Given the description of an element on the screen output the (x, y) to click on. 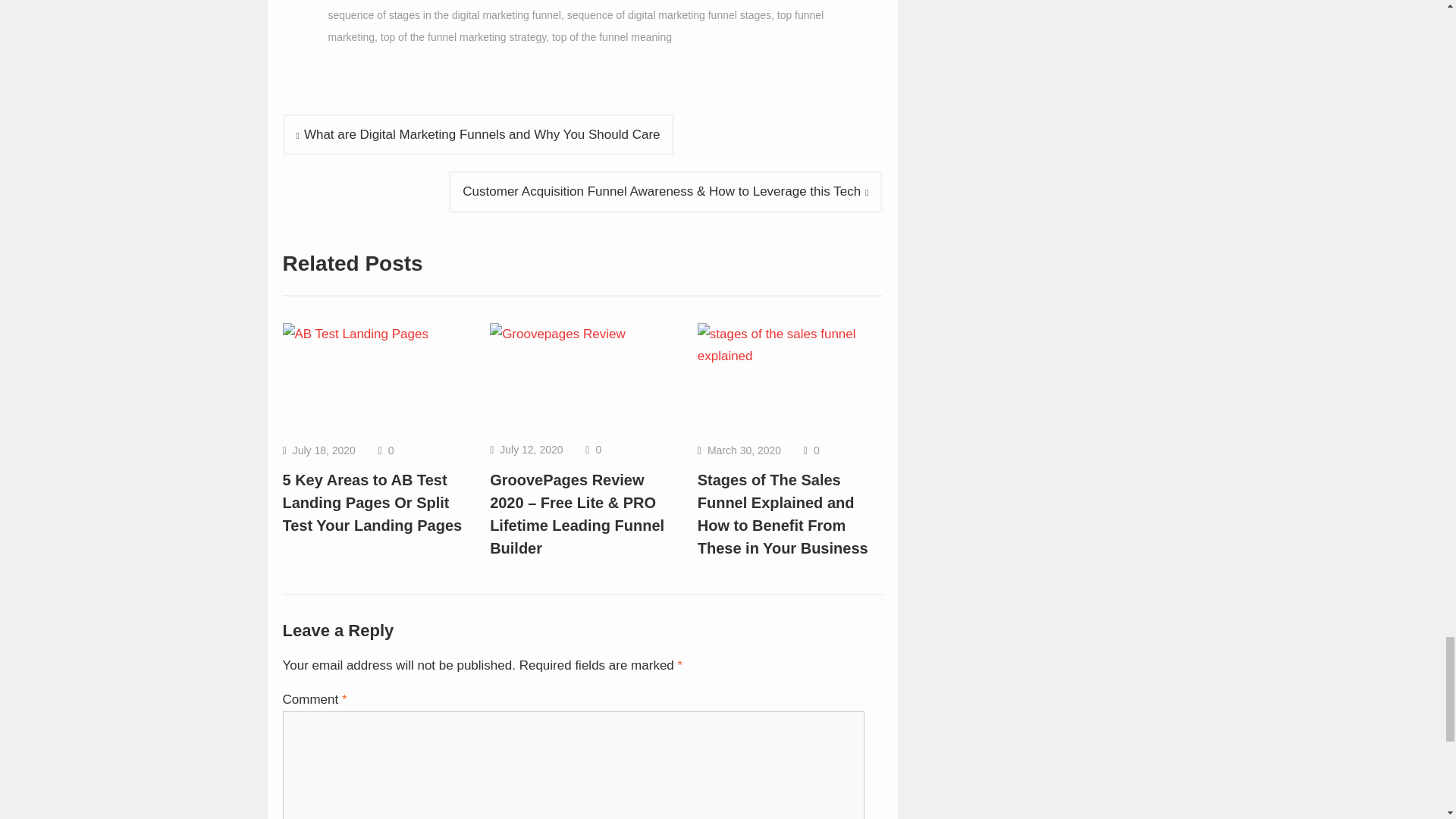
top of the funnel meaning (611, 37)
right sequence of stages in the digital marketing funnel (585, 10)
top funnel marketing (575, 26)
top of the funnel marketing strategy (463, 37)
sequence of digital marketing funnel stages (669, 15)
